Given the description of an element on the screen output the (x, y) to click on. 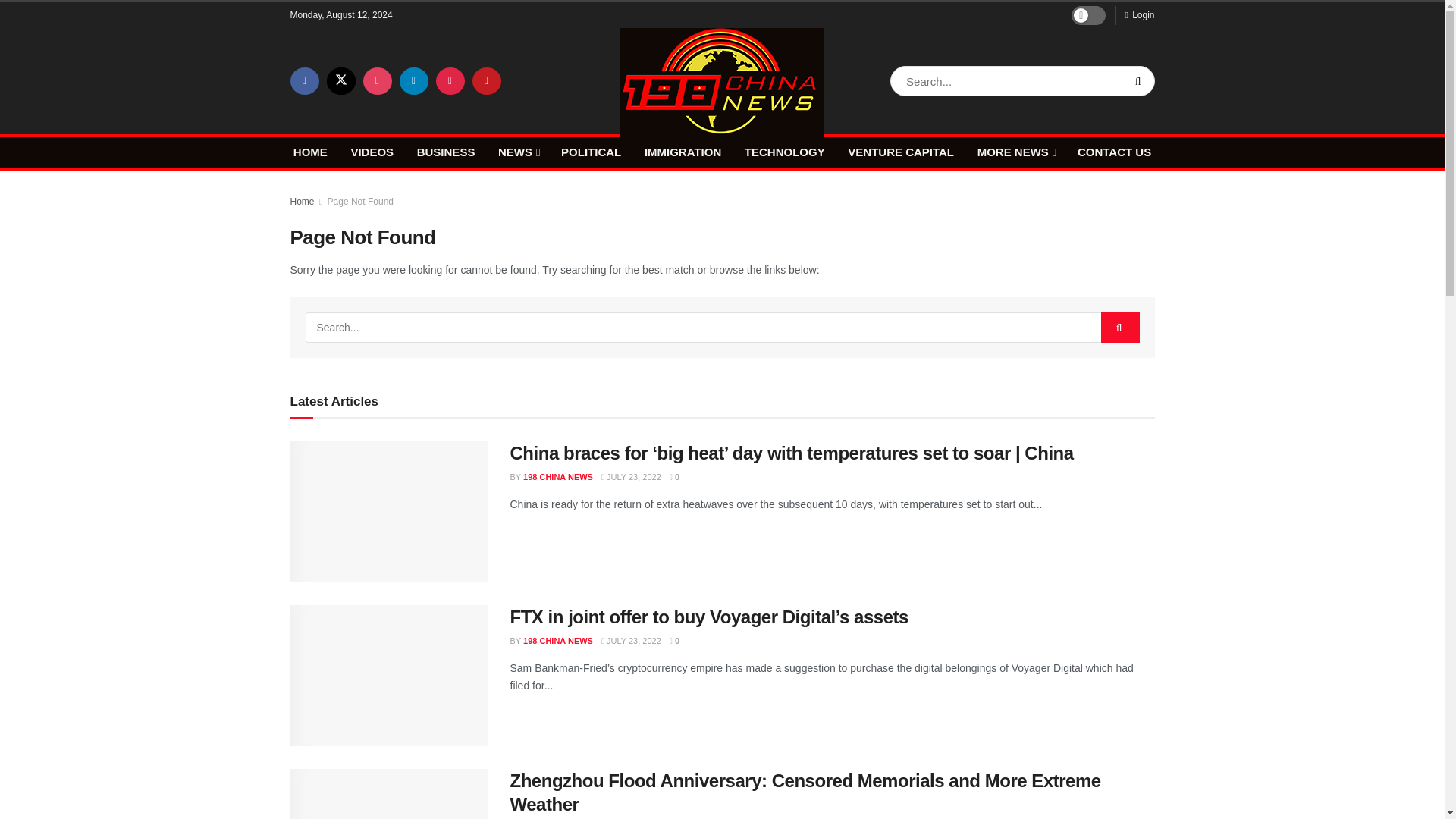
CONTACT US (1114, 151)
VIDEOS (371, 151)
IMMIGRATION (682, 151)
Login (1139, 14)
TECHNOLOGY (784, 151)
MORE NEWS (1015, 151)
NEWS (517, 151)
POLITICAL (590, 151)
VENTURE CAPITAL (900, 151)
HOME (310, 151)
